Given the description of an element on the screen output the (x, y) to click on. 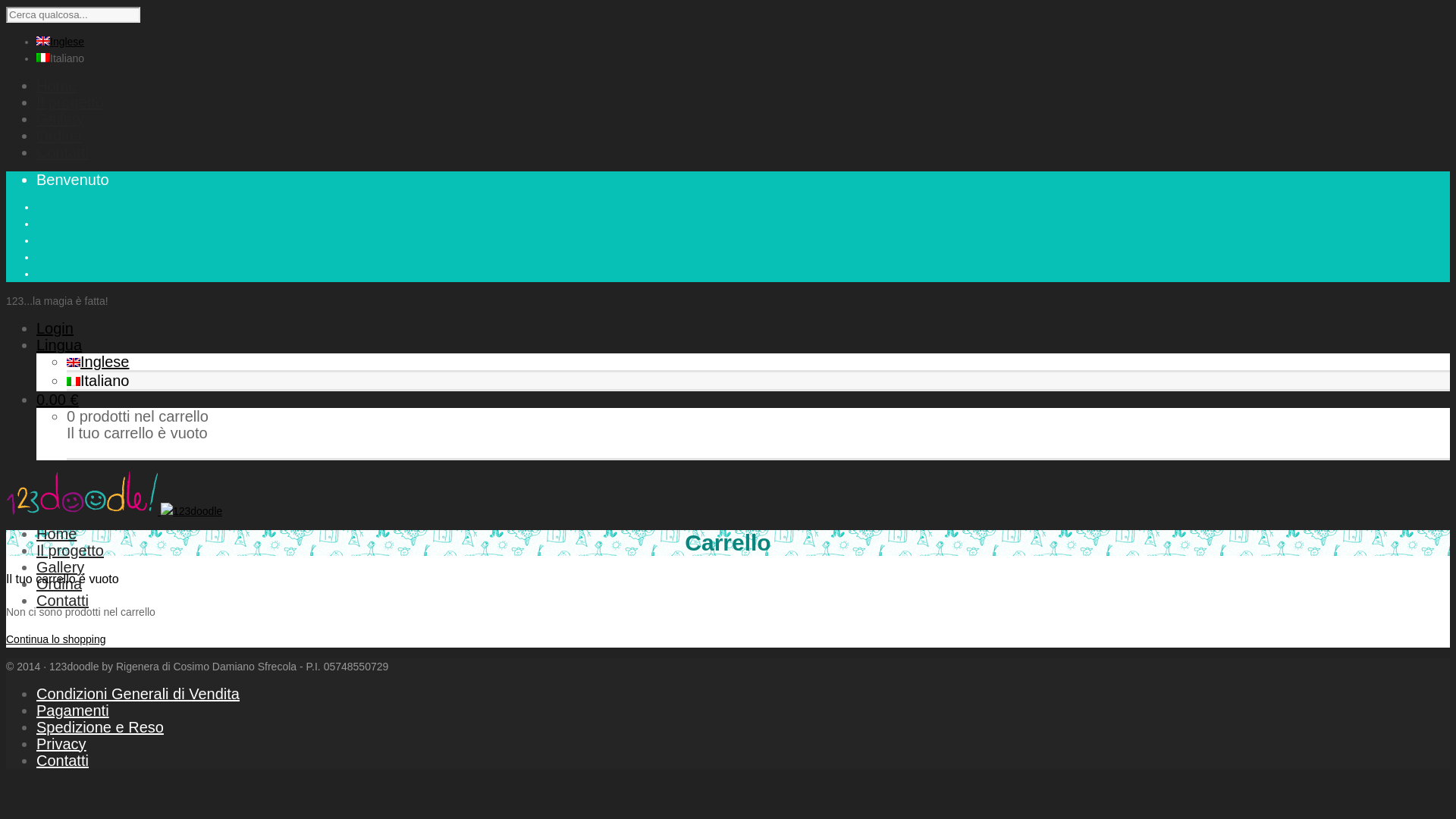
Continua lo shopping Element type: text (56, 639)
Contatti Element type: text (62, 760)
Pagamenti Element type: text (72, 710)
Inglese Element type: text (97, 361)
Login Element type: text (54, 328)
Inglese Element type: text (60, 41)
Ordina Element type: text (58, 583)
Lingua Element type: text (58, 344)
Ordina Element type: text (58, 135)
Il progetto Element type: text (69, 102)
Condizioni Generali di Vendita Element type: text (137, 693)
Vai al negozio Element type: text (116, 449)
Gallery Element type: text (60, 118)
Home Element type: text (56, 533)
Privacy Element type: text (61, 743)
Contatti Element type: text (62, 600)
Il progetto Element type: text (69, 550)
Contatti Element type: text (62, 152)
Gallery Element type: text (60, 566)
Spedizione e Reso Element type: text (99, 726)
Home Element type: text (56, 85)
